Given the description of an element on the screen output the (x, y) to click on. 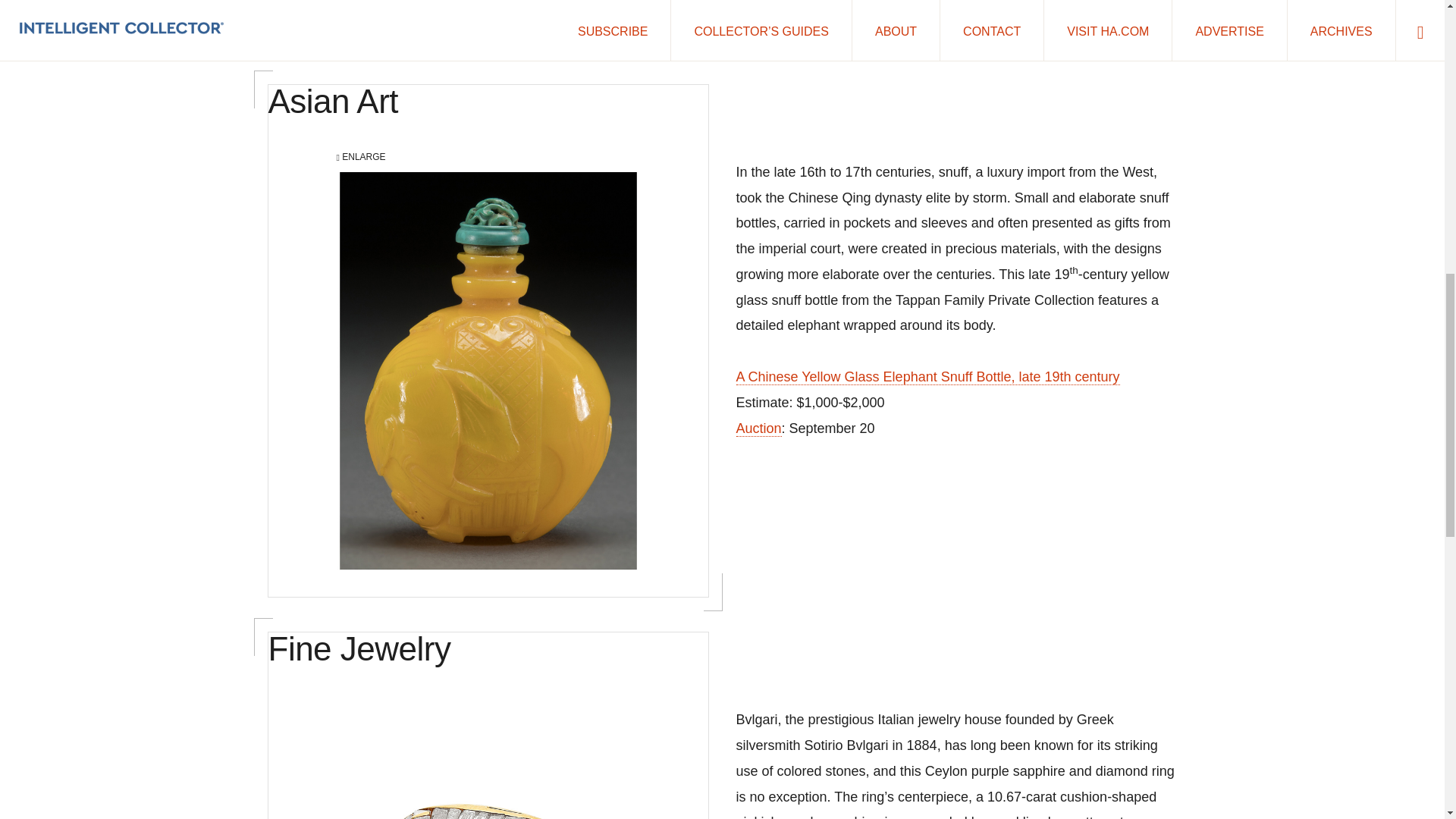
Auction (757, 428)
ENLARGE (487, 7)
